Given the description of an element on the screen output the (x, y) to click on. 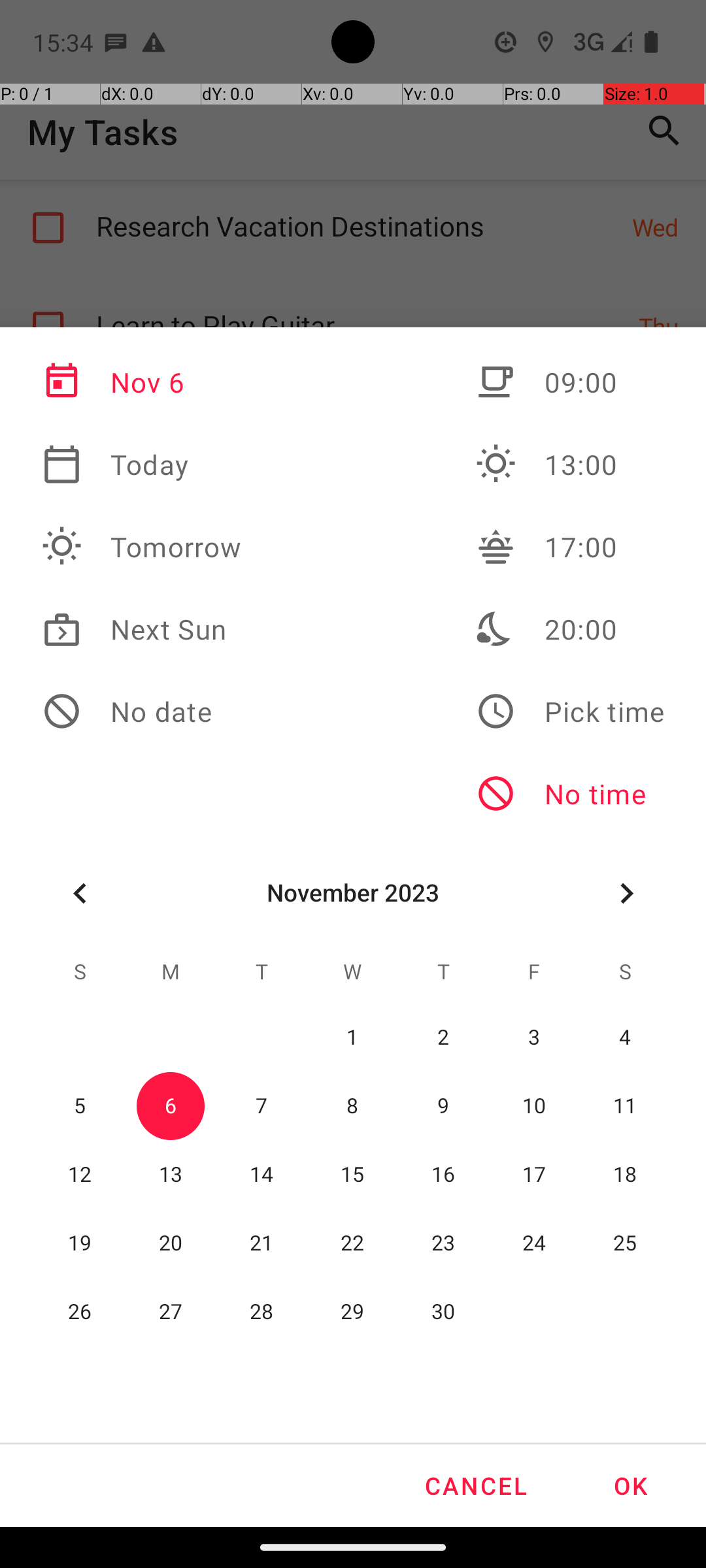
Nov 6 Element type: android.widget.CompoundButton (141, 382)
Tomorrow Element type: android.widget.CompoundButton (141, 546)
Next Sun Element type: android.widget.CompoundButton (141, 629)
